Given the description of an element on the screen output the (x, y) to click on. 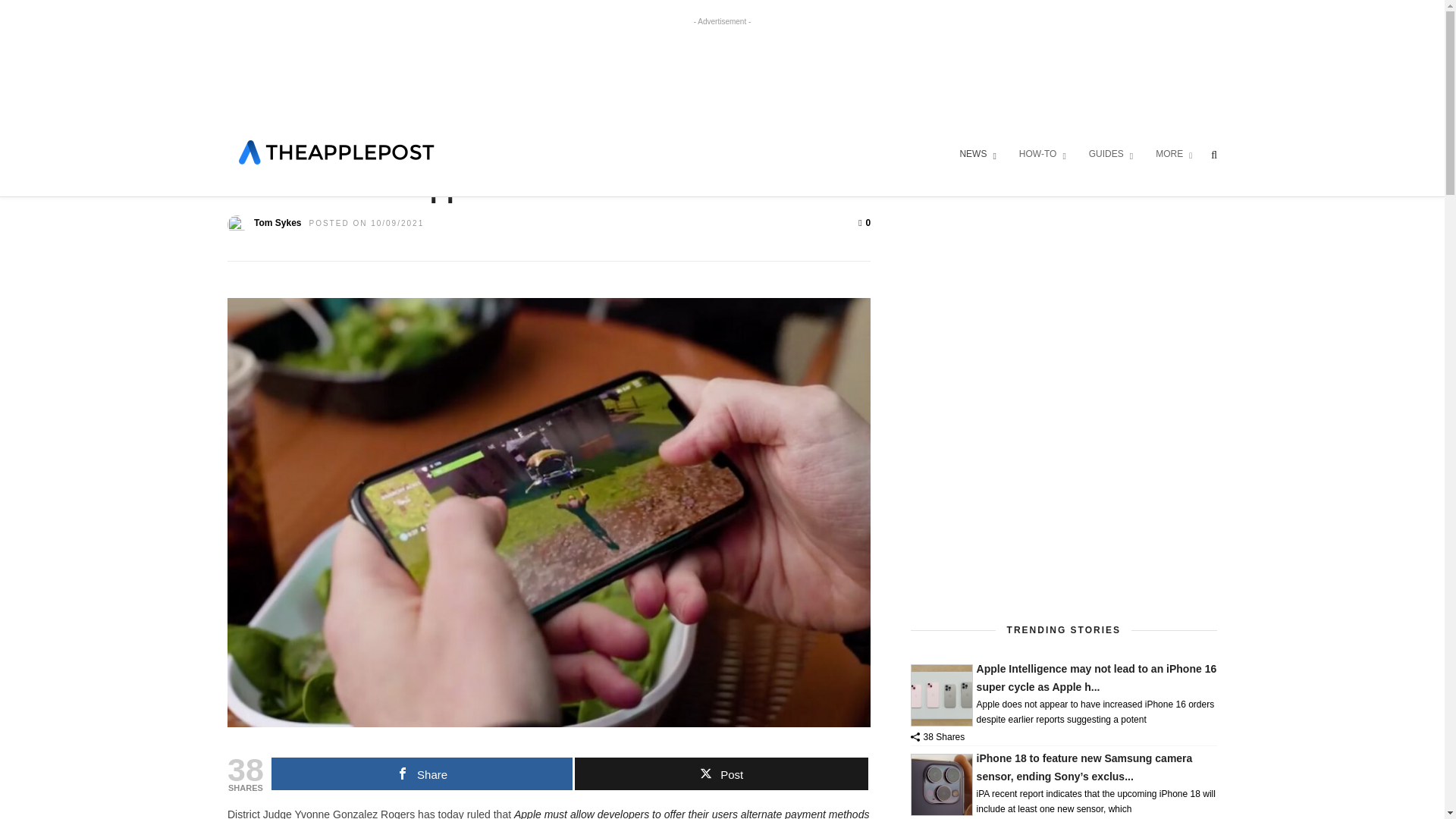
GUIDES (1110, 154)
HOW-TO (1042, 154)
NEWS (977, 154)
